Given the description of an element on the screen output the (x, y) to click on. 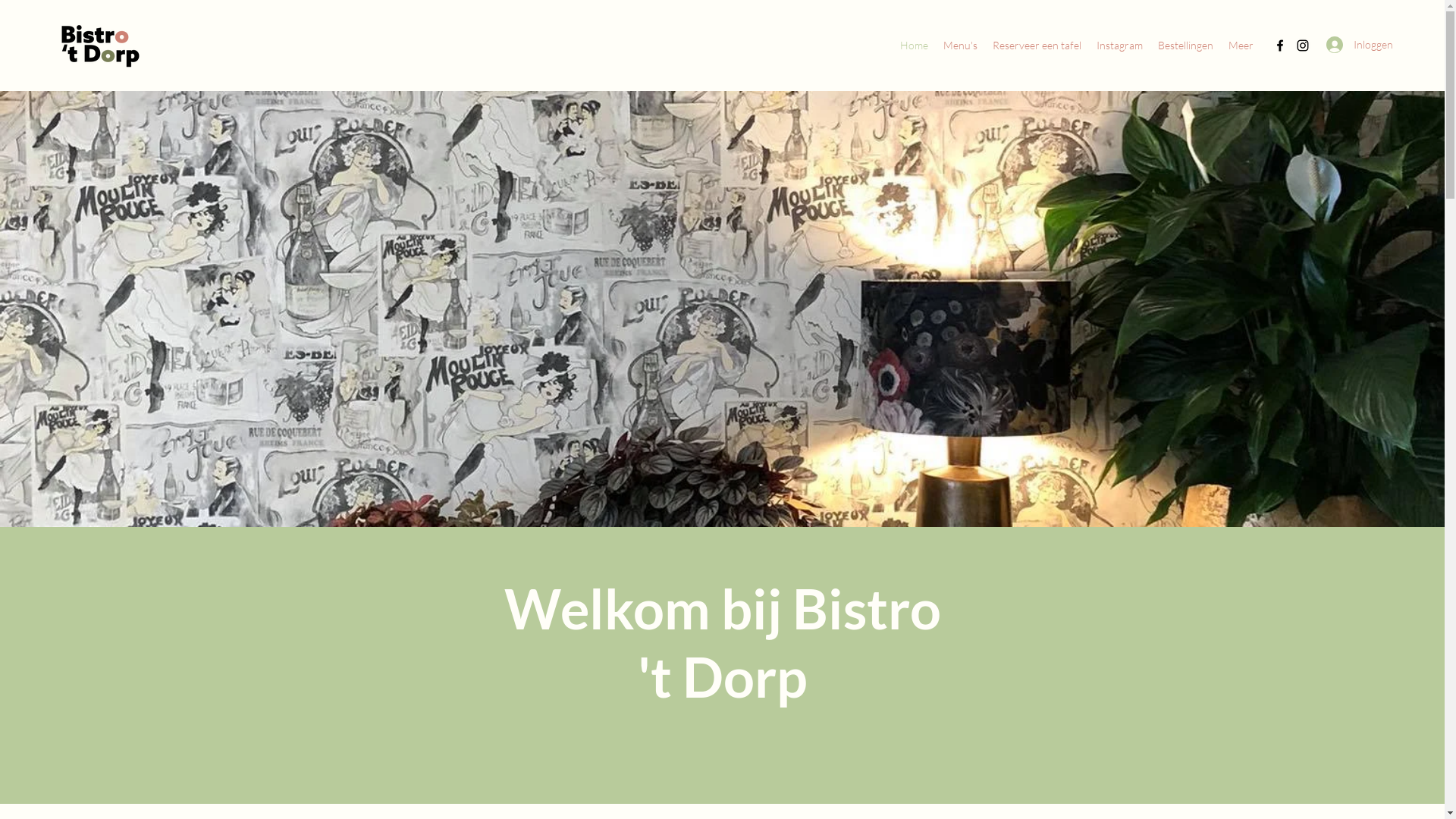
Bestellingen Element type: text (1185, 45)
Home Element type: text (913, 45)
Reserveer een tafel Element type: text (1036, 45)
Menu's Element type: text (960, 45)
Inloggen Element type: text (1349, 44)
Instagram Element type: text (1119, 45)
